Given the description of an element on the screen output the (x, y) to click on. 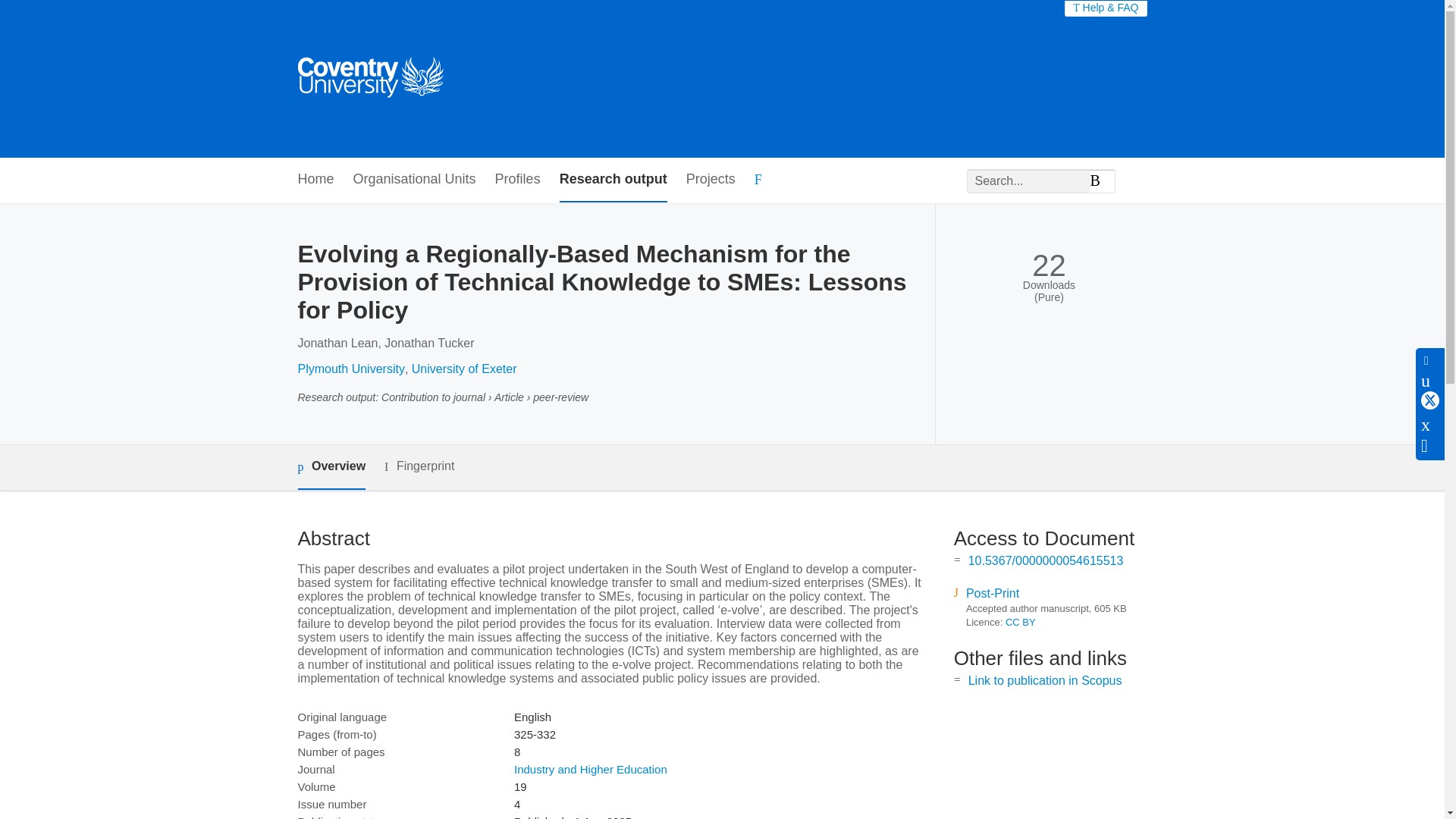
Plymouth University (350, 368)
CC BY (1020, 622)
Overview (331, 467)
Industry and Higher Education (589, 768)
Research output (612, 180)
Profiles (517, 180)
Coventry University Home (369, 78)
Link to publication in Scopus (1045, 680)
Organisational Units (414, 180)
Projects (710, 180)
